Given the description of an element on the screen output the (x, y) to click on. 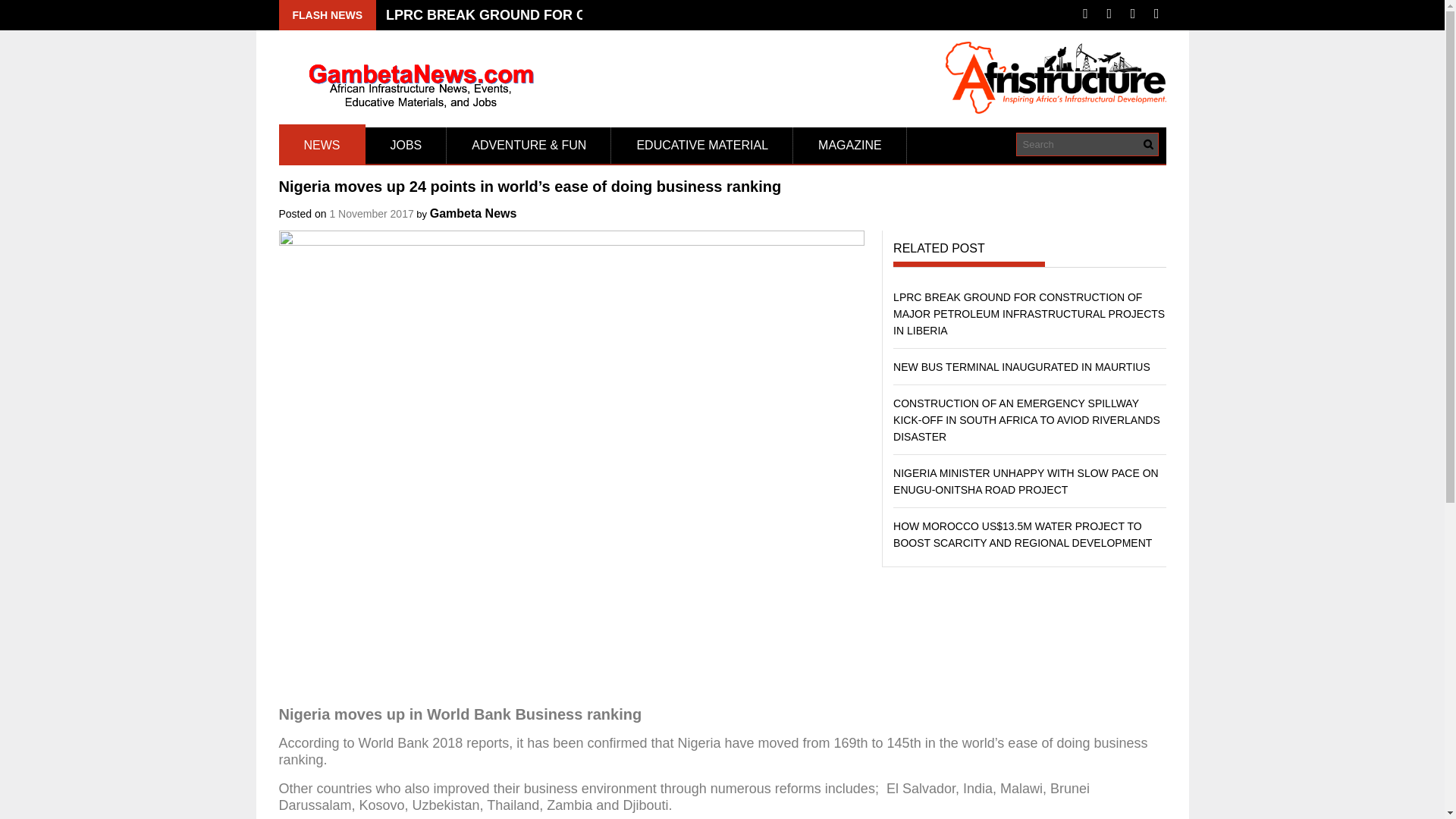
MAGAZINE (850, 145)
JOBS (405, 145)
NEW BUS TERMINAL INAUGURATED IN MAURTIUS (1021, 367)
NEW BUS TERMINAL INAUGURATED IN MAURTIUS (1021, 367)
1 November 2017 (371, 214)
